Given the description of an element on the screen output the (x, y) to click on. 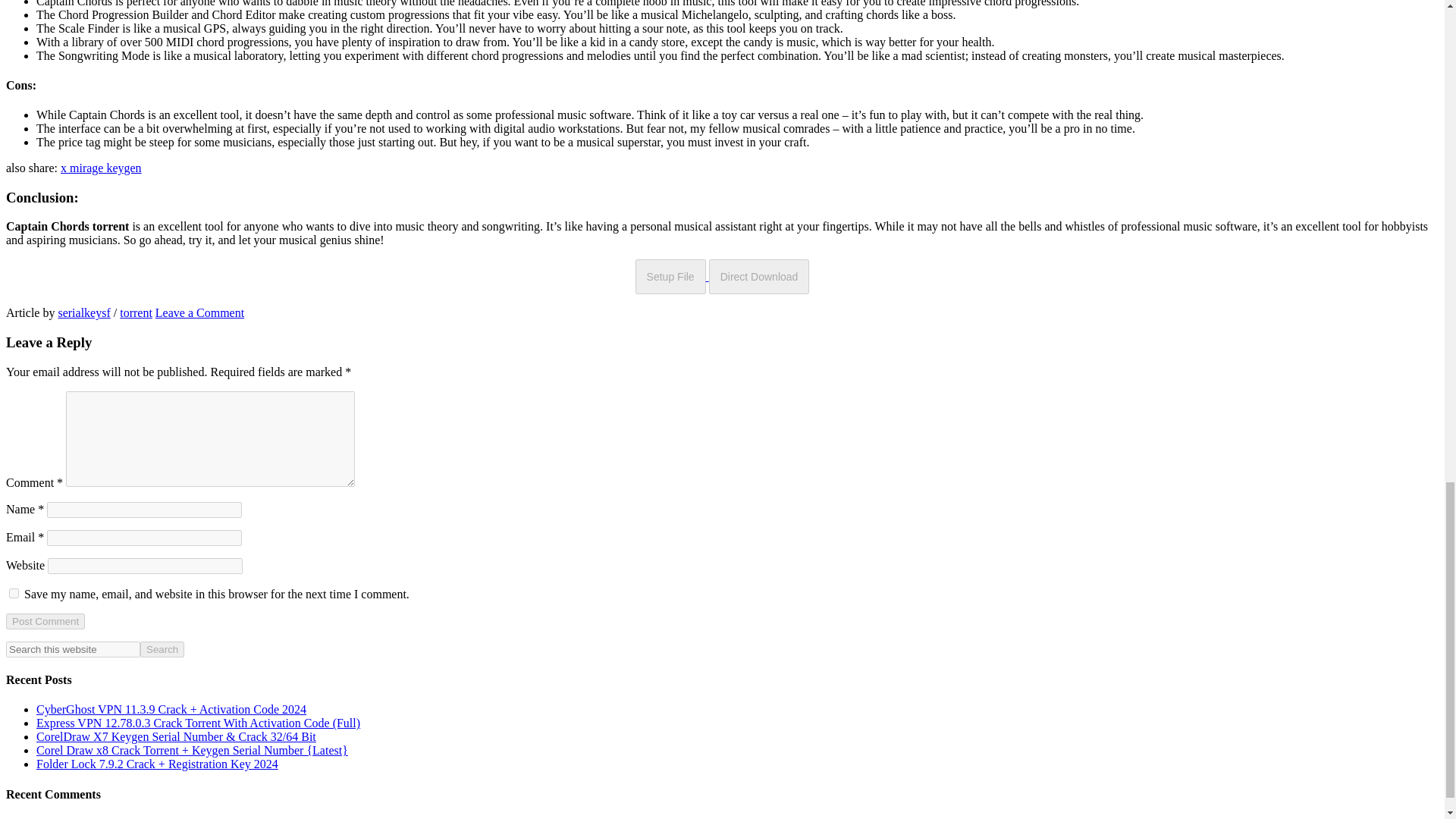
Setup File Direct Download (721, 276)
yes (13, 593)
x mirage keygen (101, 167)
Post Comment (44, 621)
Search (161, 649)
Search (161, 649)
